Given the description of an element on the screen output the (x, y) to click on. 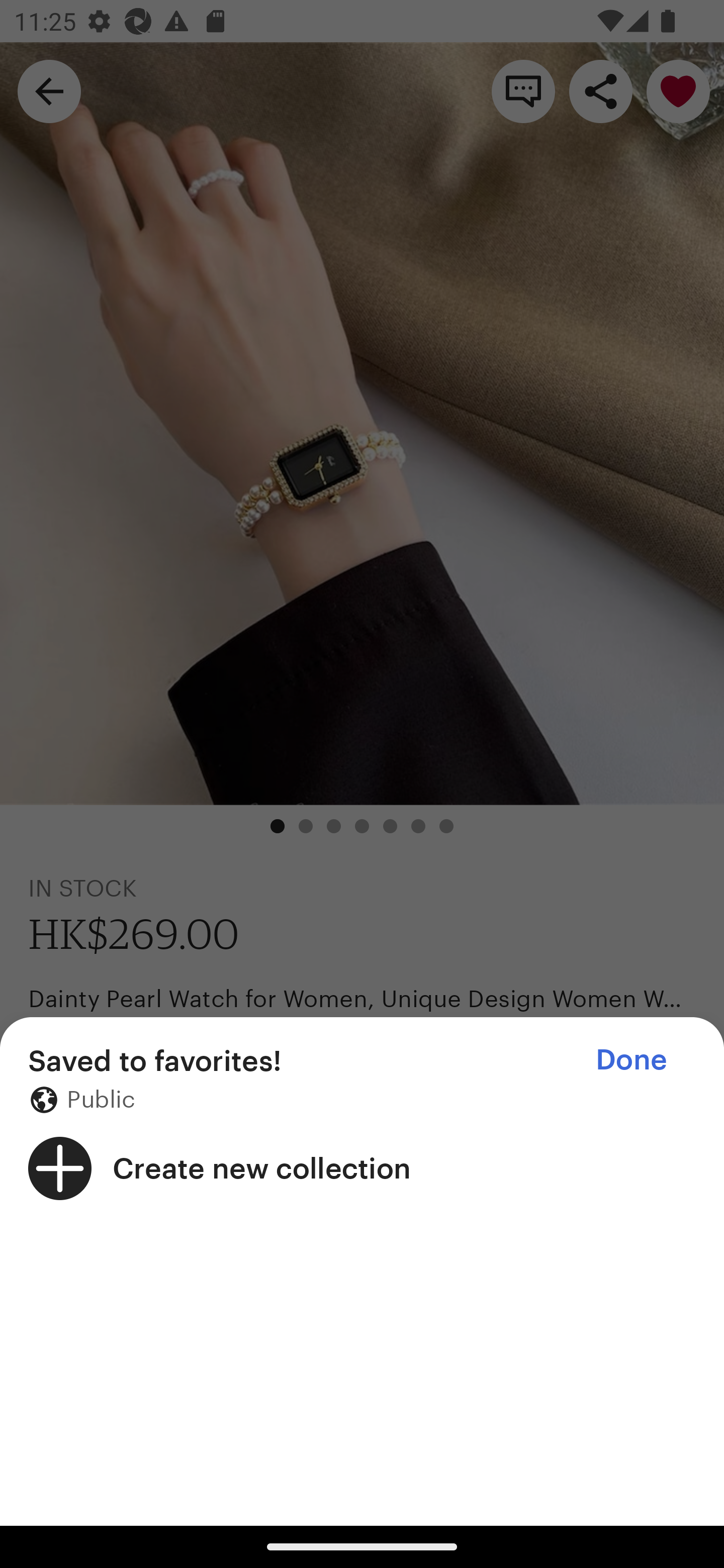
Done (630, 1059)
Create new collection (361, 1167)
